Given the description of an element on the screen output the (x, y) to click on. 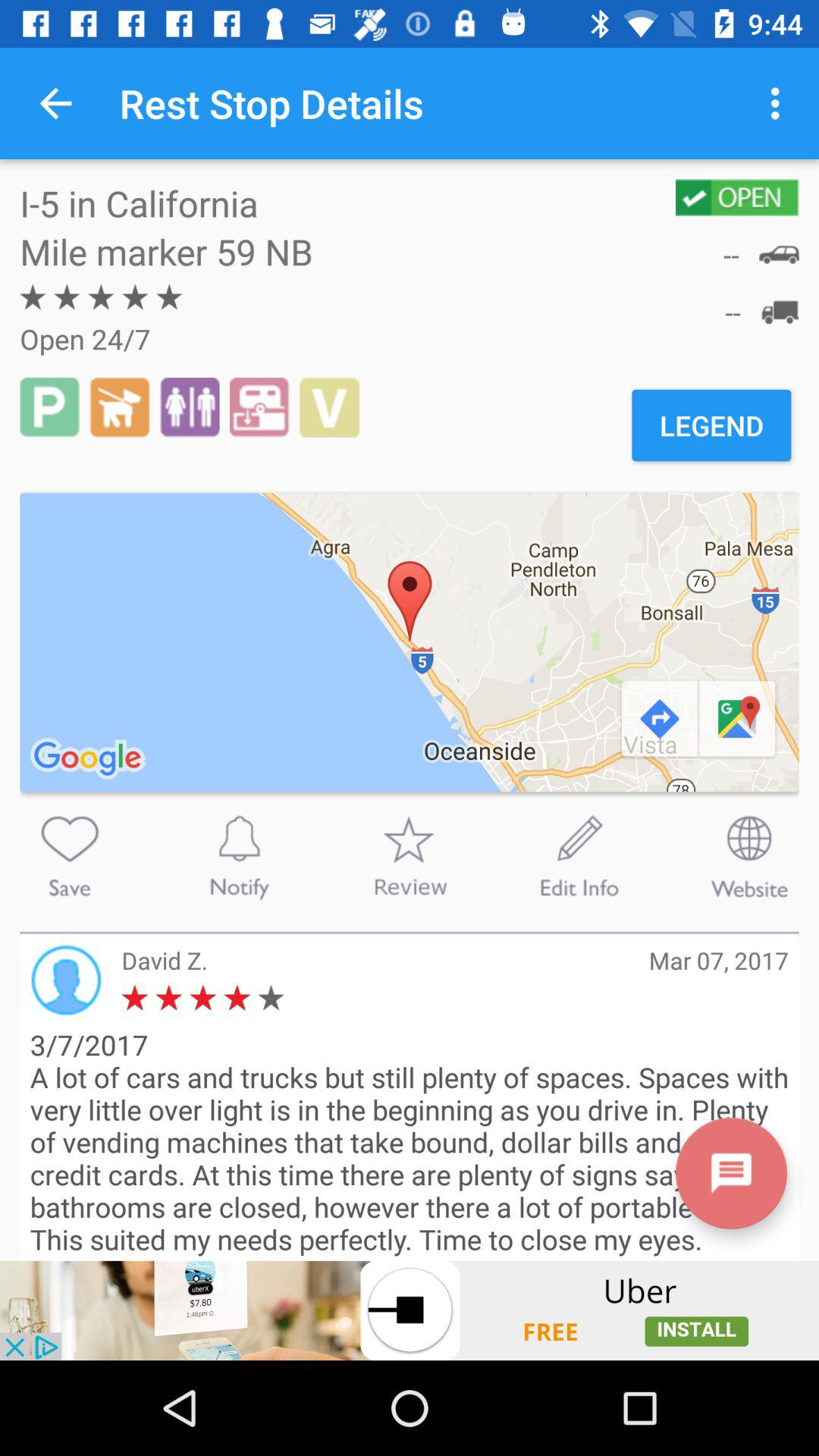
read more text (731, 1173)
